Given the description of an element on the screen output the (x, y) to click on. 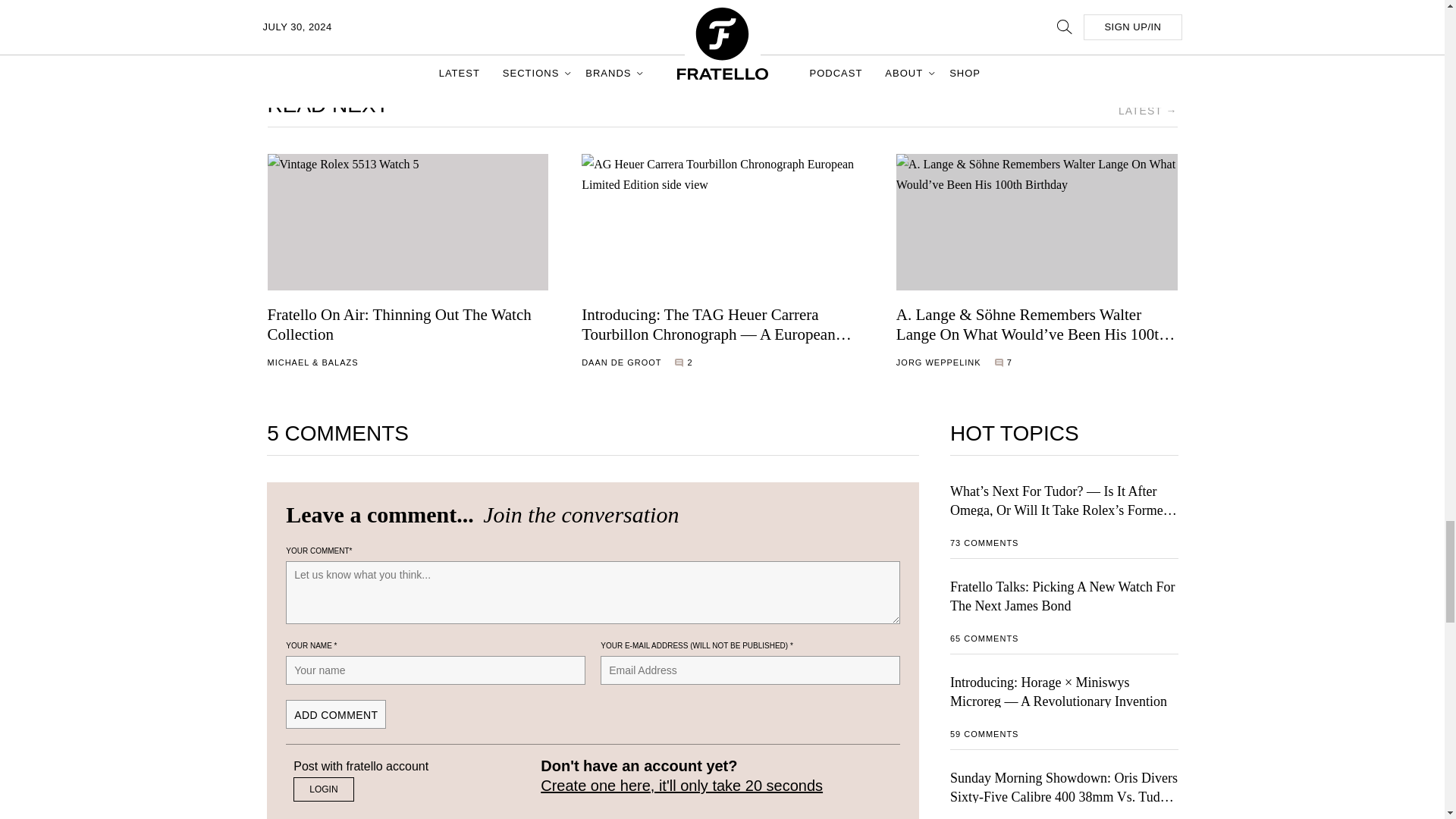
Add comment (335, 714)
